Given the description of an element on the screen output the (x, y) to click on. 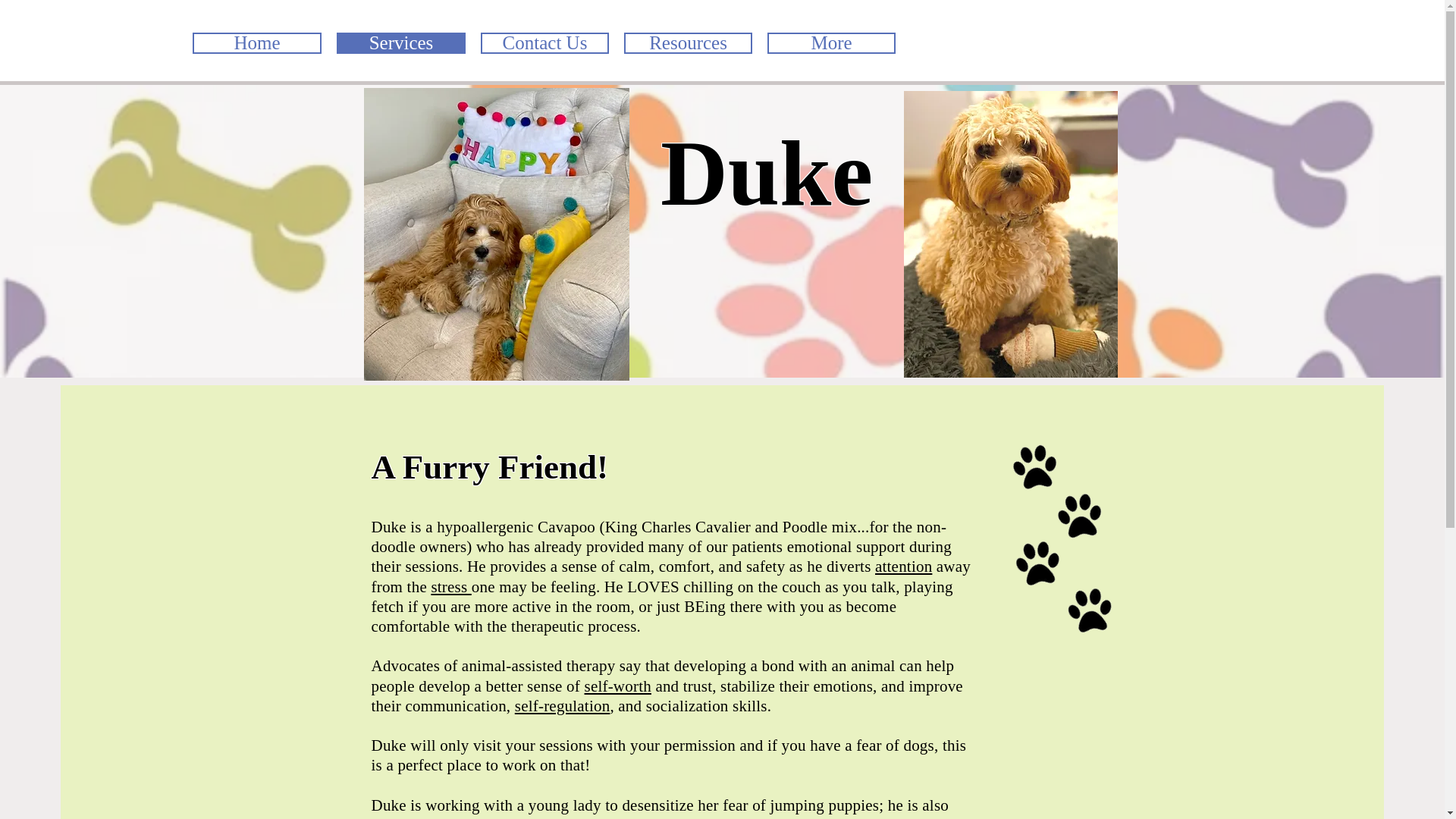
attention (903, 566)
Home (256, 43)
Resources (688, 43)
Services (400, 43)
self-regulation (562, 705)
stress (450, 587)
self-worth (616, 685)
Contact Us (544, 43)
